Given the description of an element on the screen output the (x, y) to click on. 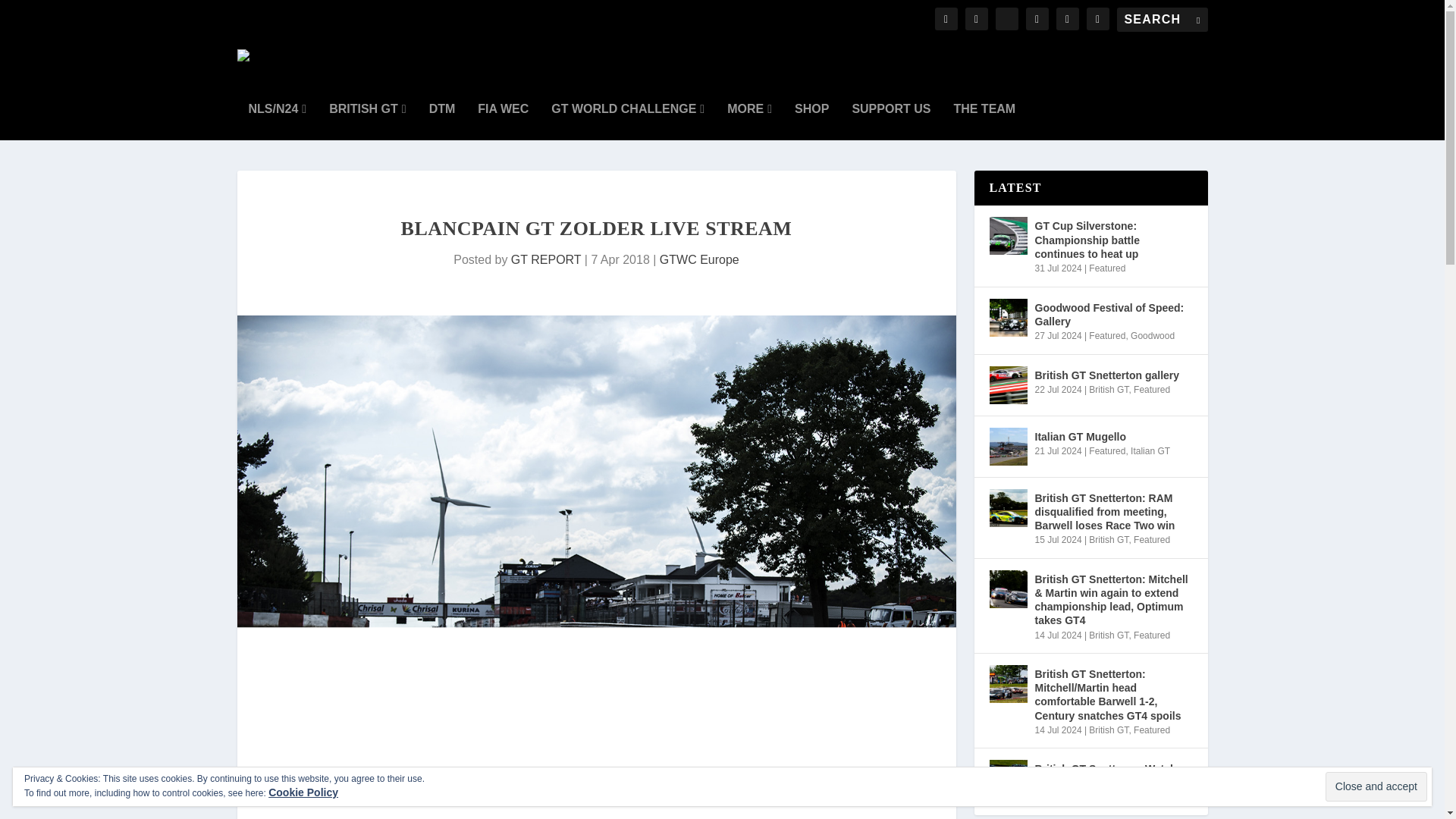
Italian GT Mugello (1007, 446)
FIA WEC (502, 121)
GT WORLD CHALLENGE (627, 121)
BRITISH GT (367, 121)
SUPPORT US (890, 121)
Goodwood Festival of Speed: Gallery (1007, 317)
SHOP (811, 121)
MORE (748, 121)
GT Cup Silverstone: Championship battle continues to heat up (1007, 235)
Posts by GT REPORT (545, 259)
Search for: (1161, 19)
British GT Snetterton gallery (1007, 385)
Close and accept (1375, 786)
DTM (442, 121)
